Given the description of an element on the screen output the (x, y) to click on. 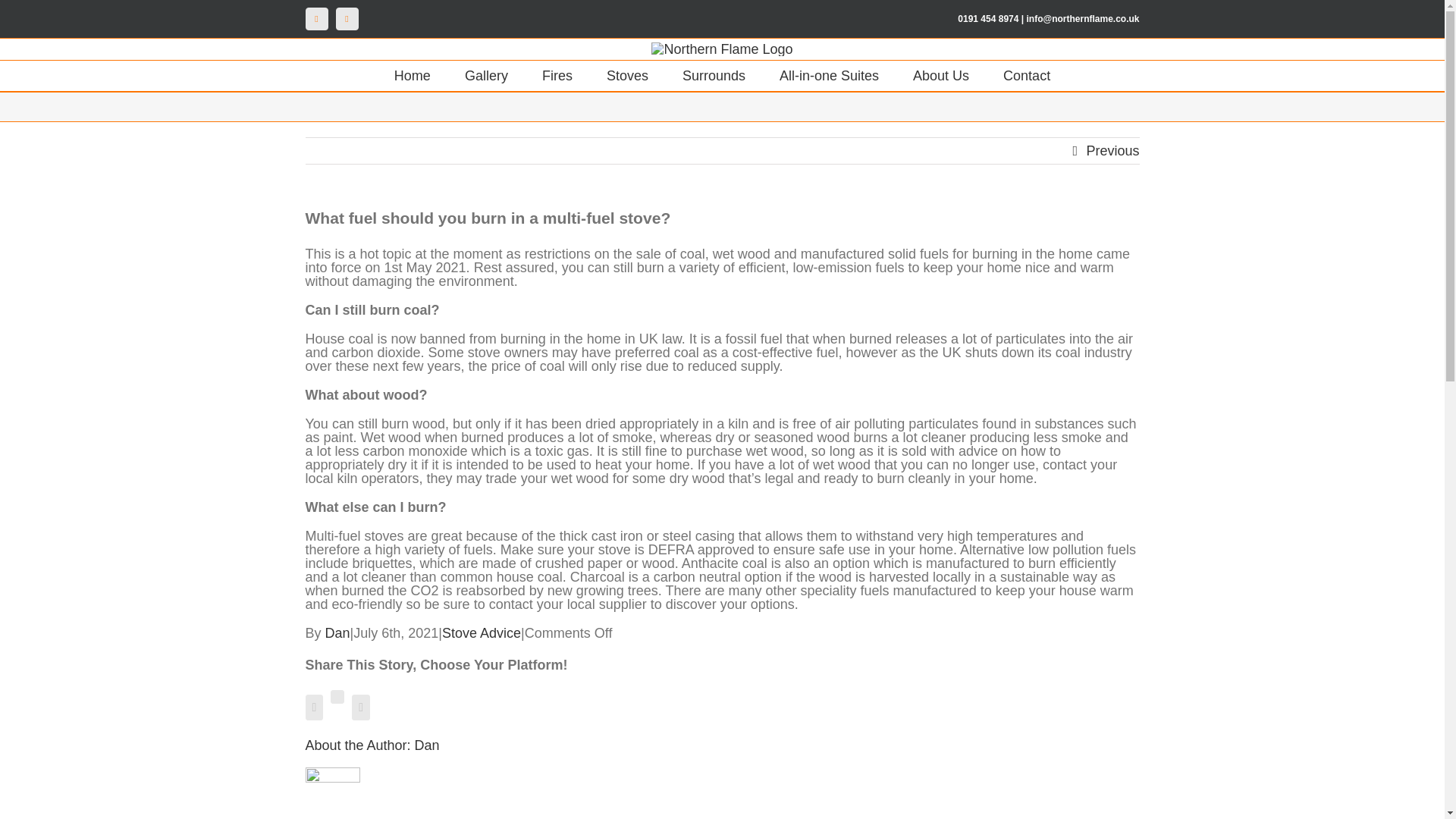
Stoves (627, 75)
Email (346, 18)
WhatsApp (336, 696)
Posts by Dan (337, 632)
0191 454 8974 (987, 18)
Facebook (315, 18)
Email (346, 18)
Fires (556, 75)
All-in-one Suites (828, 75)
Previous (1112, 150)
Surrounds (713, 75)
Dan (337, 632)
Gallery (486, 75)
Home (412, 75)
Dan (426, 744)
